Given the description of an element on the screen output the (x, y) to click on. 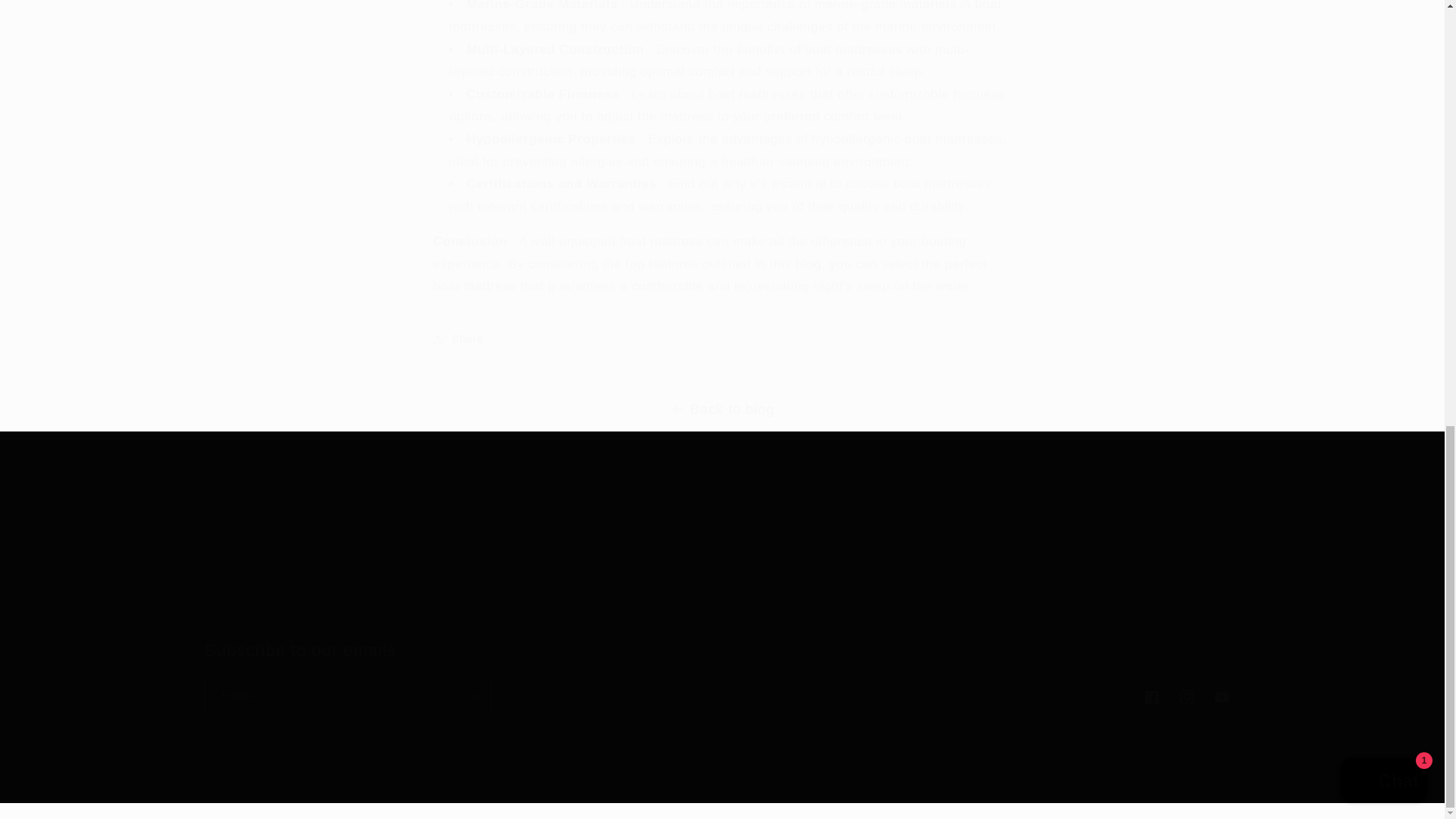
Refund policy (603, 810)
Share (721, 338)
Facebook (722, 676)
About us (1151, 697)
ASTAMR (931, 533)
Contact Us (445, 809)
YouTube (936, 507)
Privacy policy (1073, 562)
Instagram (1222, 697)
